Given the description of an element on the screen output the (x, y) to click on. 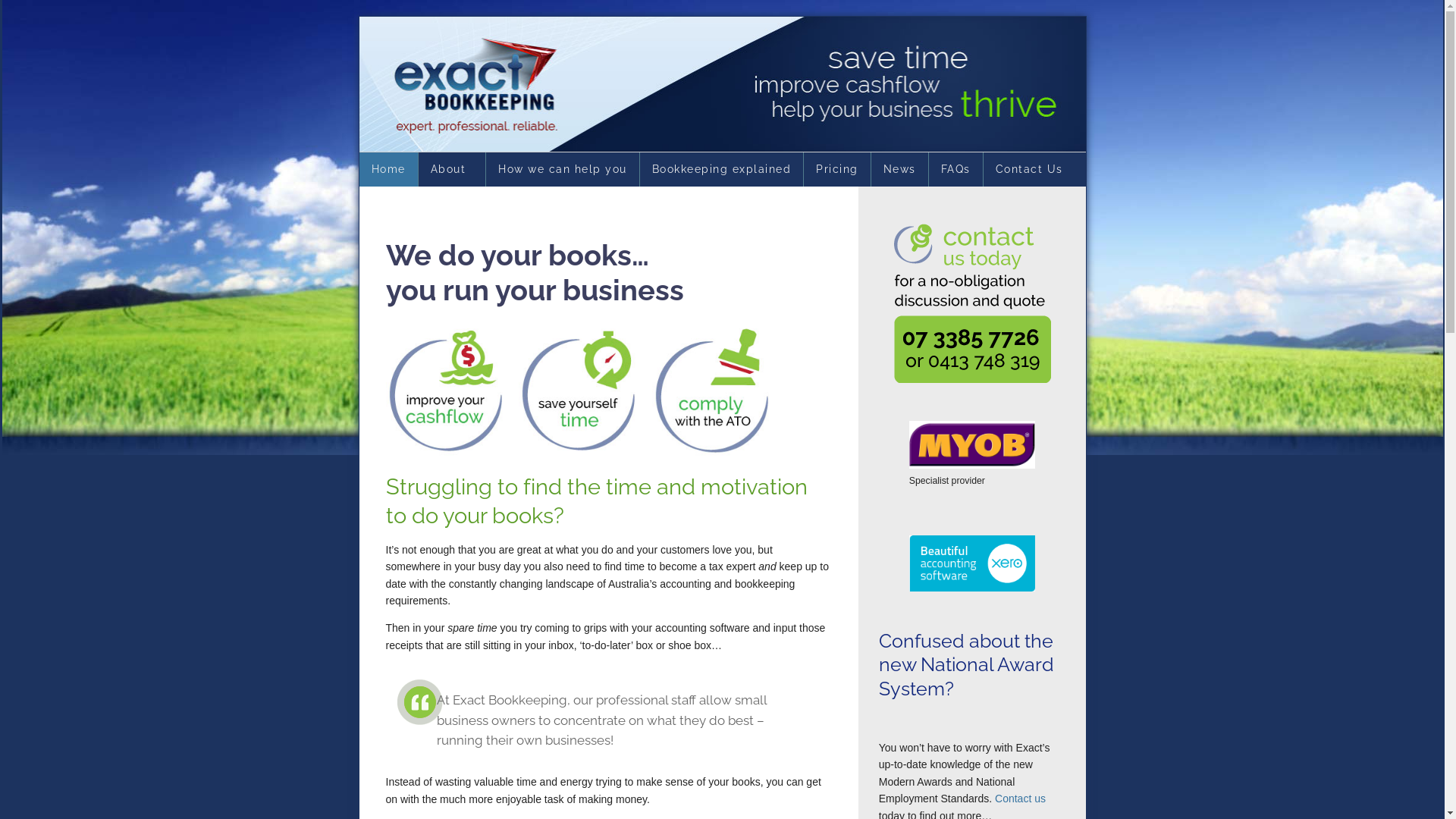
How we can help you Element type: text (562, 169)
Contact us Element type: text (1019, 798)
Contact Us Element type: text (1028, 169)
News Element type: text (898, 169)
Bookkeeping explained Element type: text (721, 169)
About Element type: text (452, 169)
Pricing Element type: text (836, 169)
FAQs Element type: text (955, 169)
Home Element type: text (388, 169)
